Given the description of an element on the screen output the (x, y) to click on. 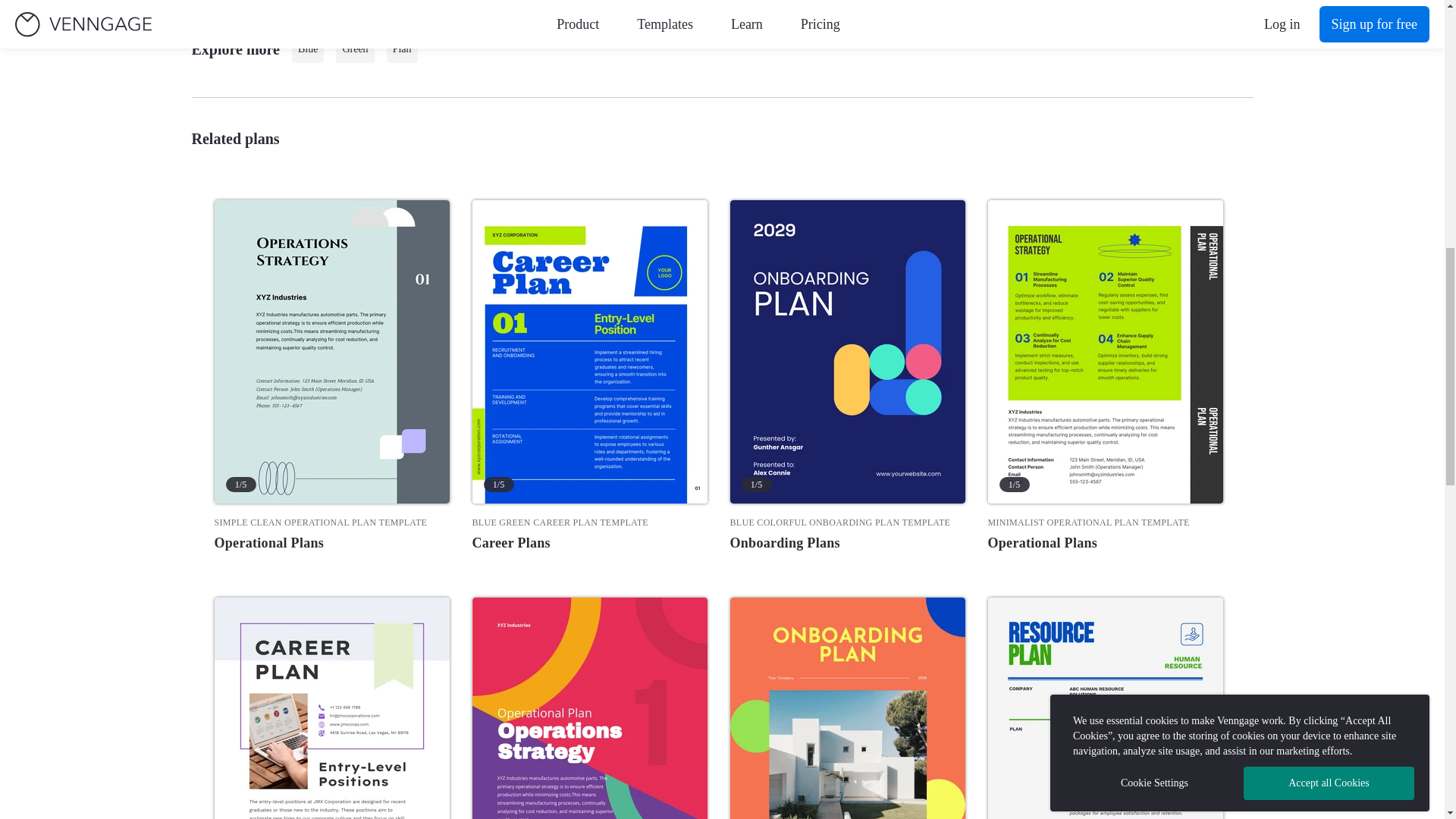
Plan (402, 49)
Career Plan Example Template (331, 708)
Simple Clean Operational Plan Template (331, 522)
Blue (307, 49)
View more templates in the 'operational plans' category. (331, 542)
Green (355, 49)
BLUE GREEN CAREER PLAN TEMPLATE (588, 522)
Colorful Shape Operational Plan Template (588, 708)
Blue Green Career Plan Template (588, 522)
SIMPLE CLEAN OPERATIONAL PLAN TEMPLATE (331, 522)
